Given the description of an element on the screen output the (x, y) to click on. 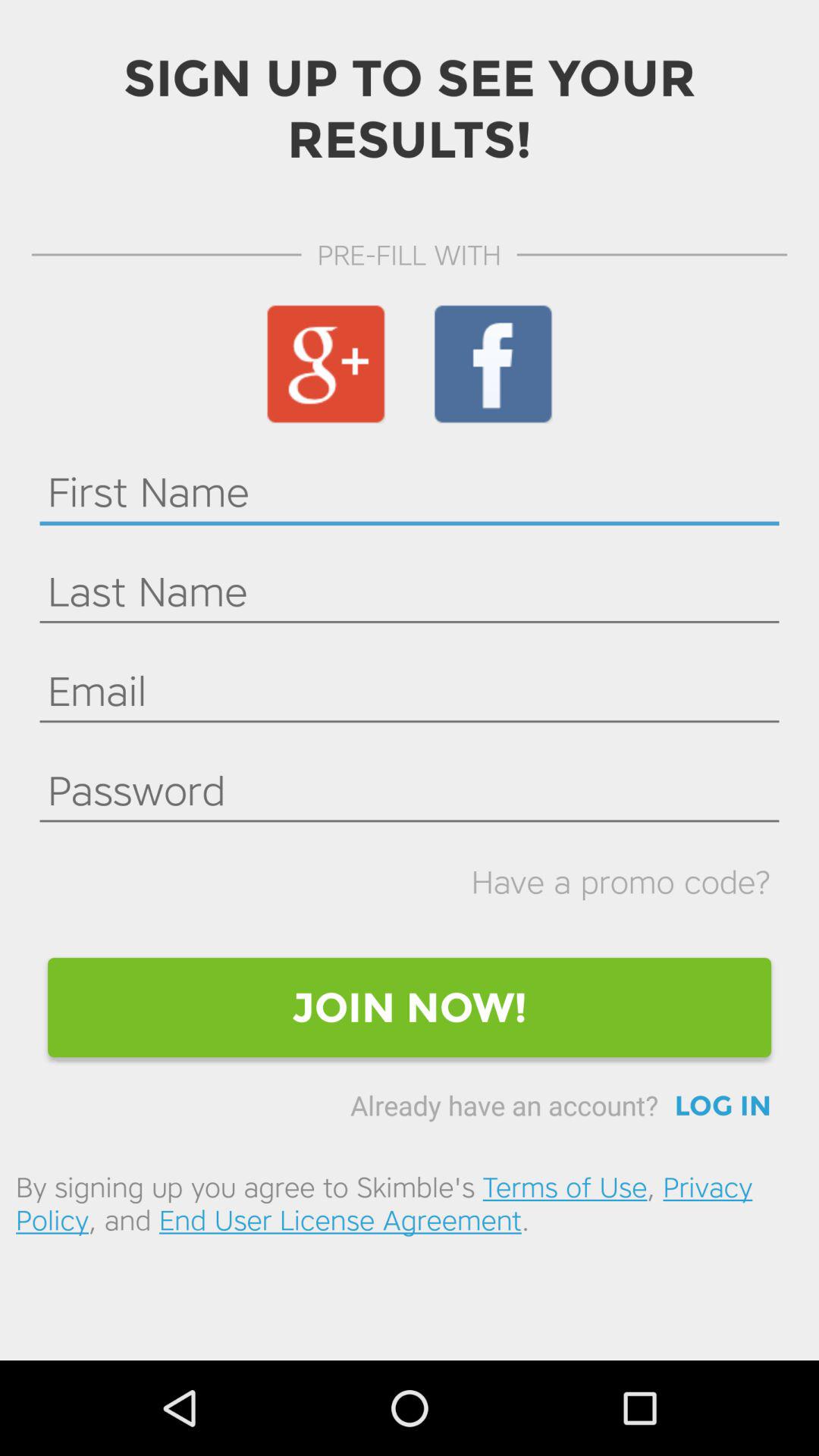
jump to the join now! icon (409, 1007)
